Given the description of an element on the screen output the (x, y) to click on. 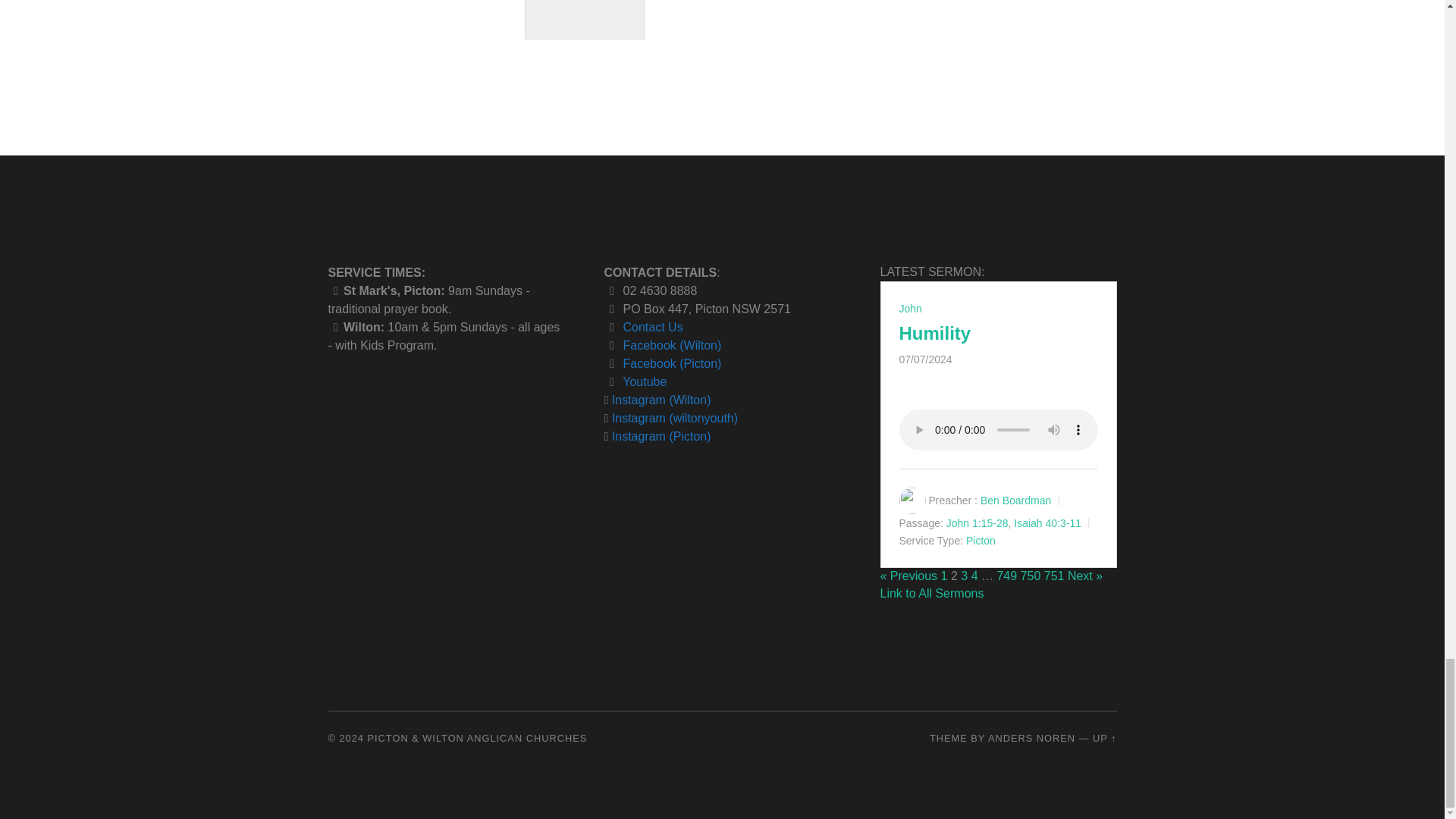
To the top (1104, 737)
